Given the description of an element on the screen output the (x, y) to click on. 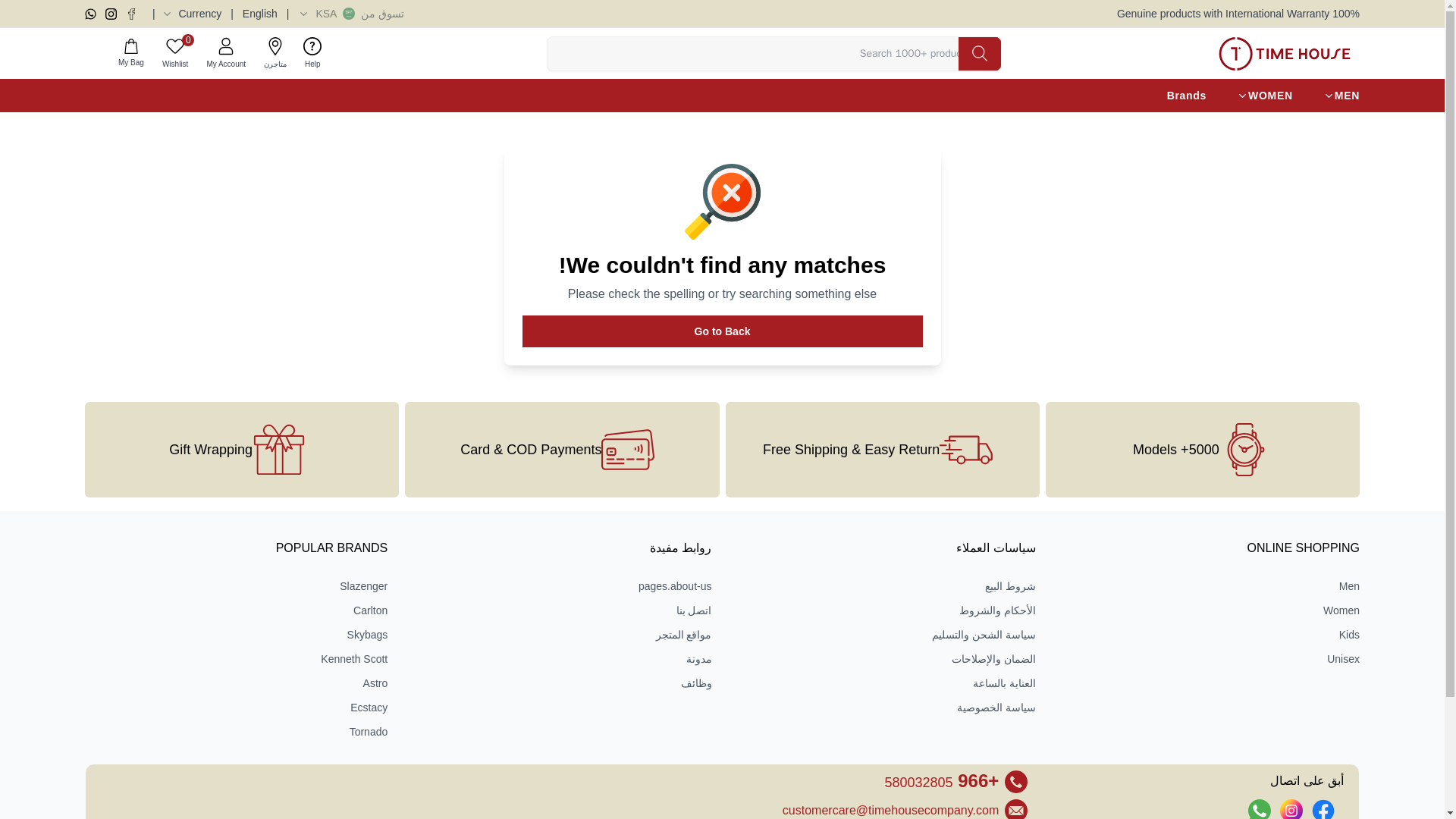
Tornado (235, 731)
WOMEN (1264, 94)
Brands (1187, 94)
Unisex (1208, 658)
MEN (1341, 94)
Ecstacy (235, 707)
English (260, 13)
My Bag (130, 53)
Skybags (235, 634)
Women (1208, 610)
